Given the description of an element on the screen output the (x, y) to click on. 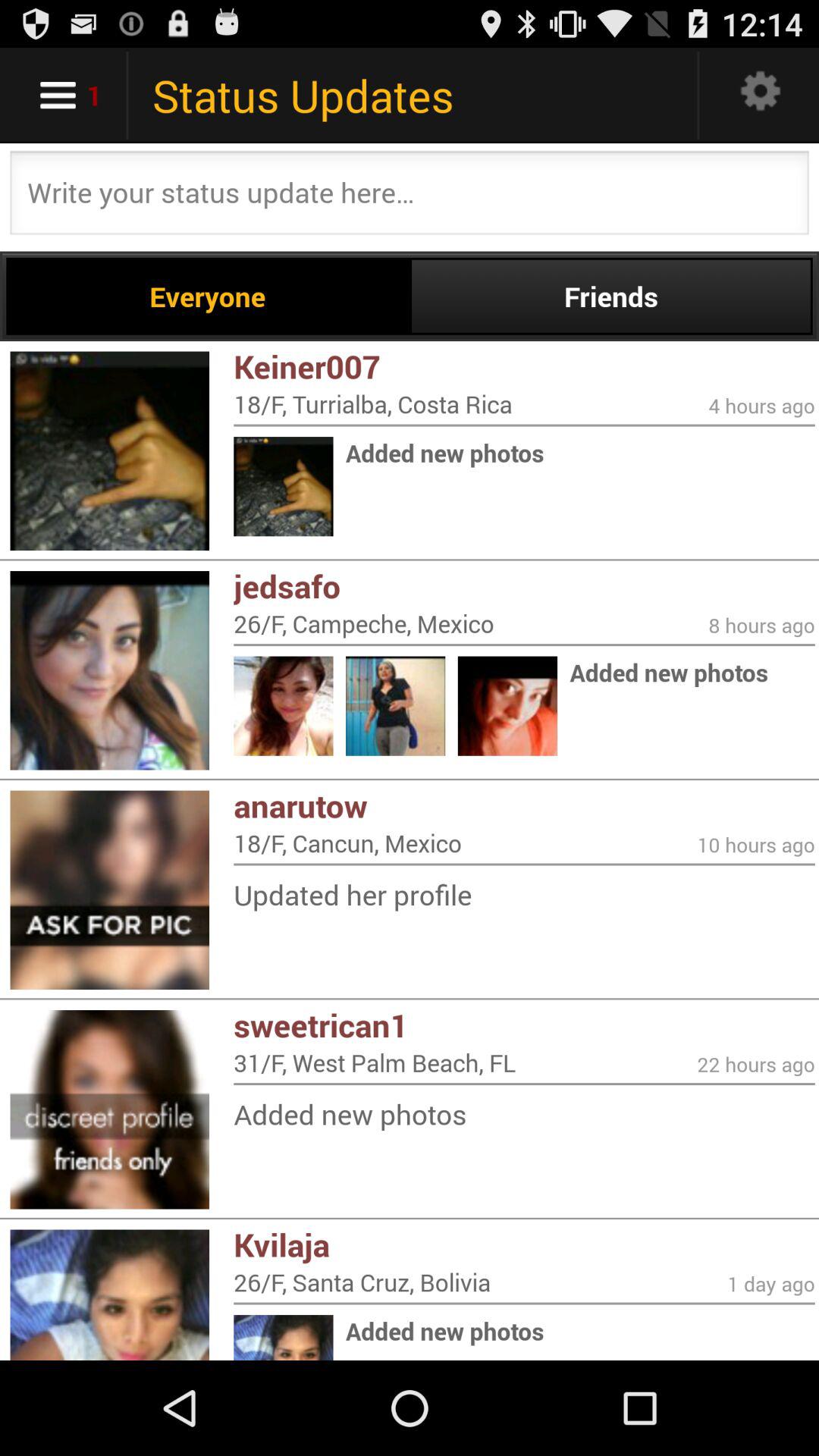
enter status update (409, 197)
